Given the description of an element on the screen output the (x, y) to click on. 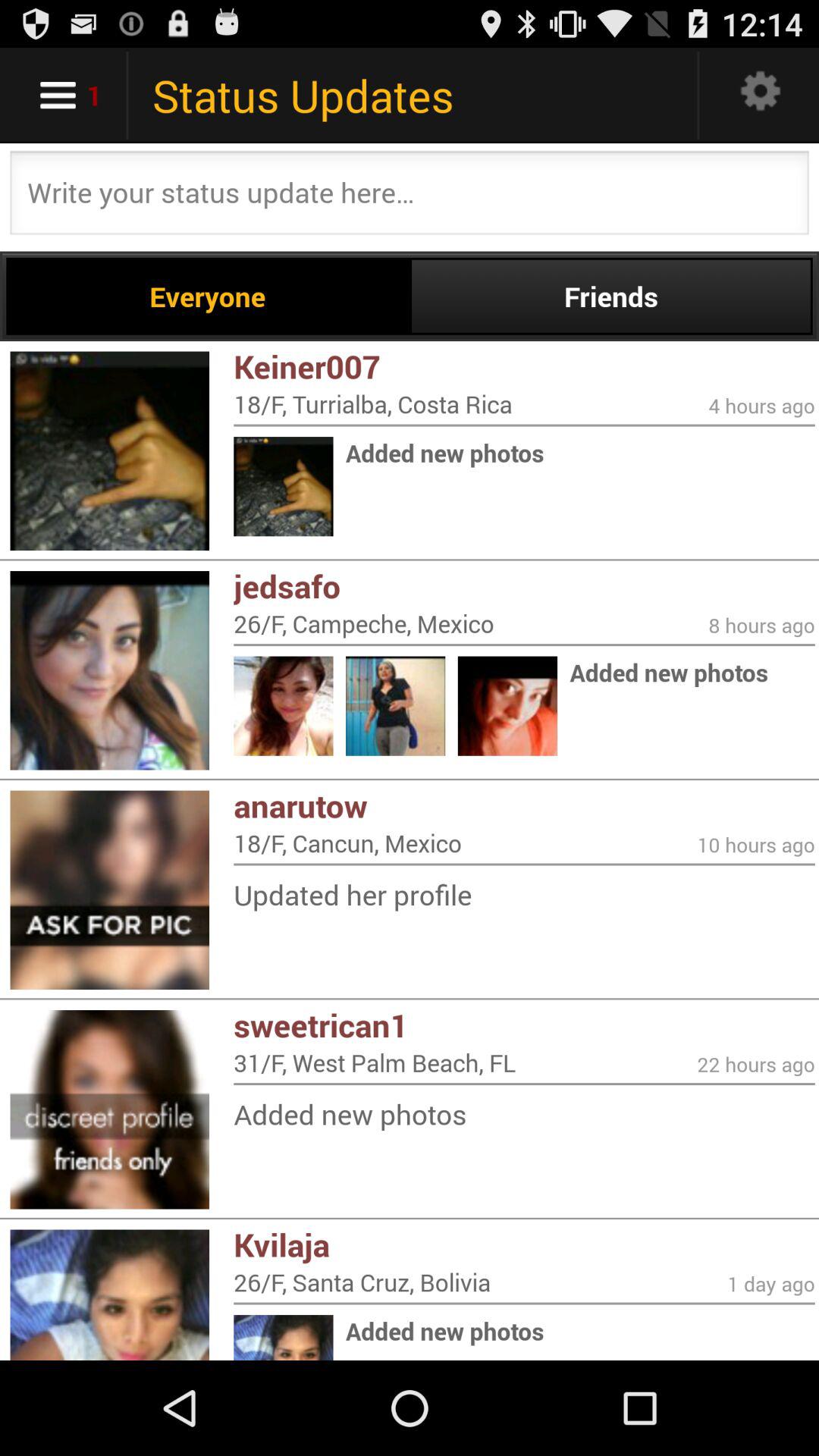
enter status update (409, 197)
